Given the description of an element on the screen output the (x, y) to click on. 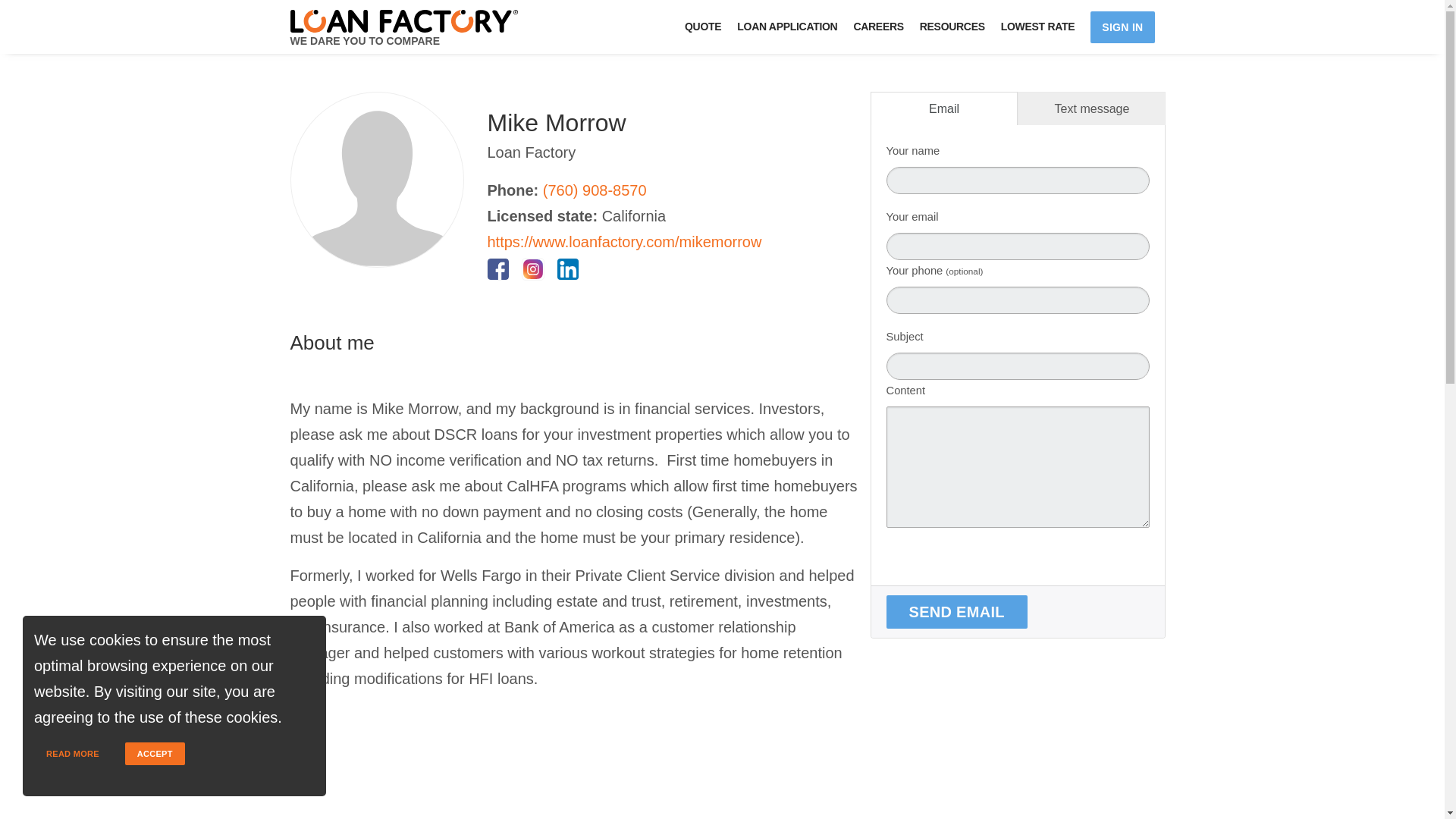
SIGN IN (1122, 27)
QUOTE (709, 27)
RESOURCES (959, 27)
LOAN APPLICATION (793, 27)
SIGN IN (1122, 27)
SEND EMAIL (955, 611)
LOWEST RATE (1045, 27)
Text message (1091, 108)
CAREERS (885, 27)
Email (943, 108)
